Given the description of an element on the screen output the (x, y) to click on. 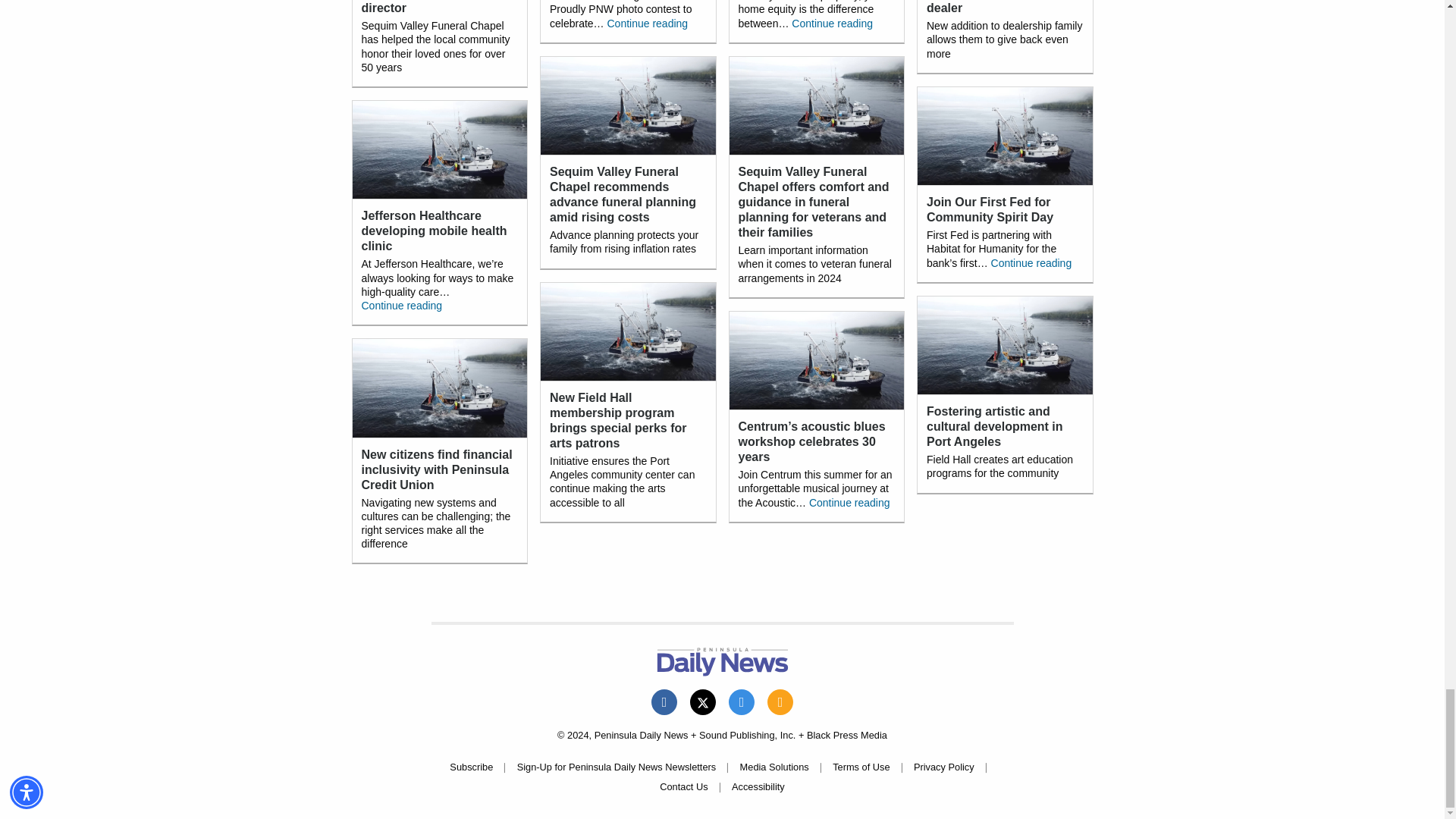
Follow us on Twitter (703, 701)
Follow us on Facebook (663, 701)
